Given the description of an element on the screen output the (x, y) to click on. 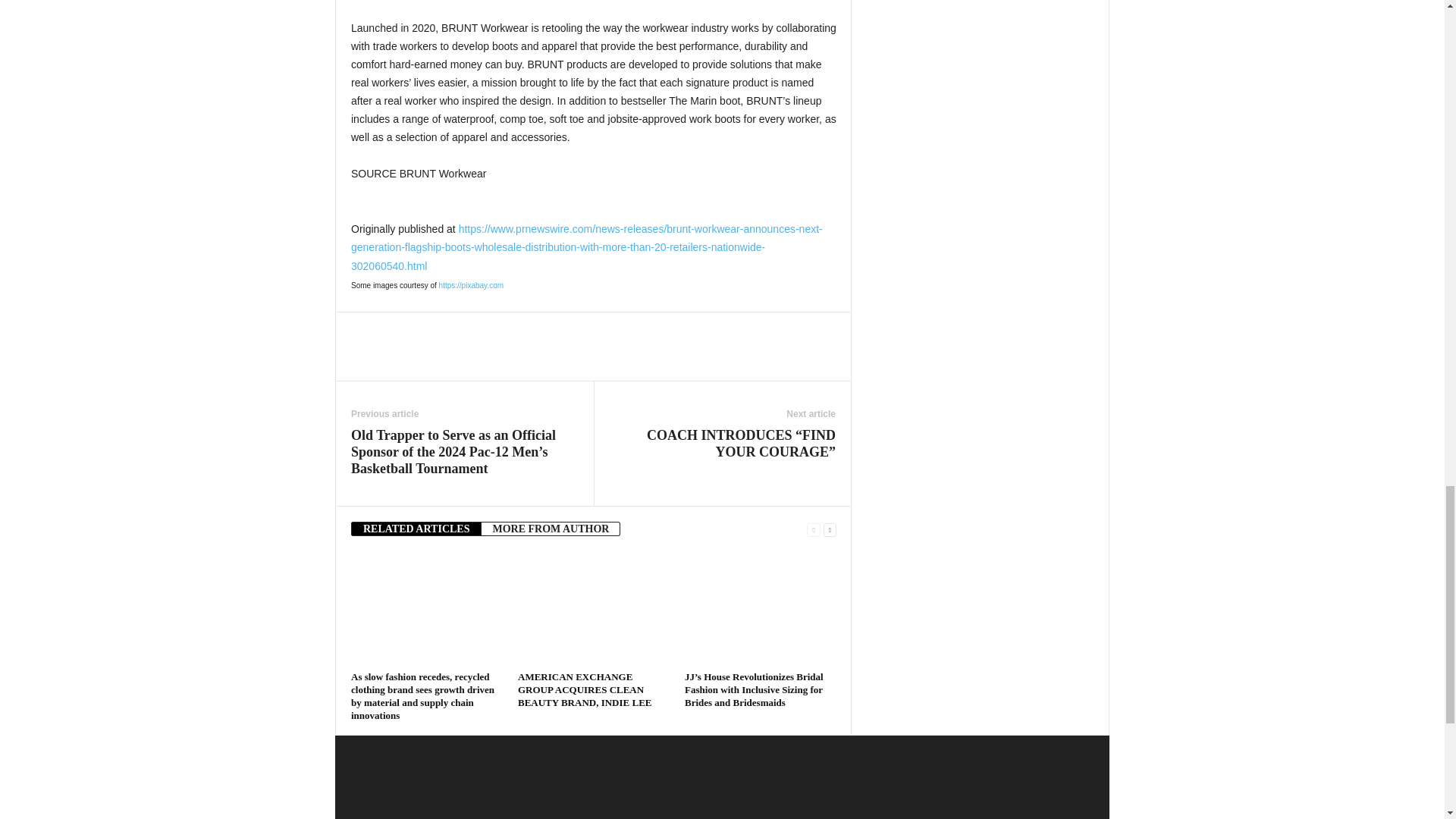
bottomFacebookLike (390, 327)
